Given the description of an element on the screen output the (x, y) to click on. 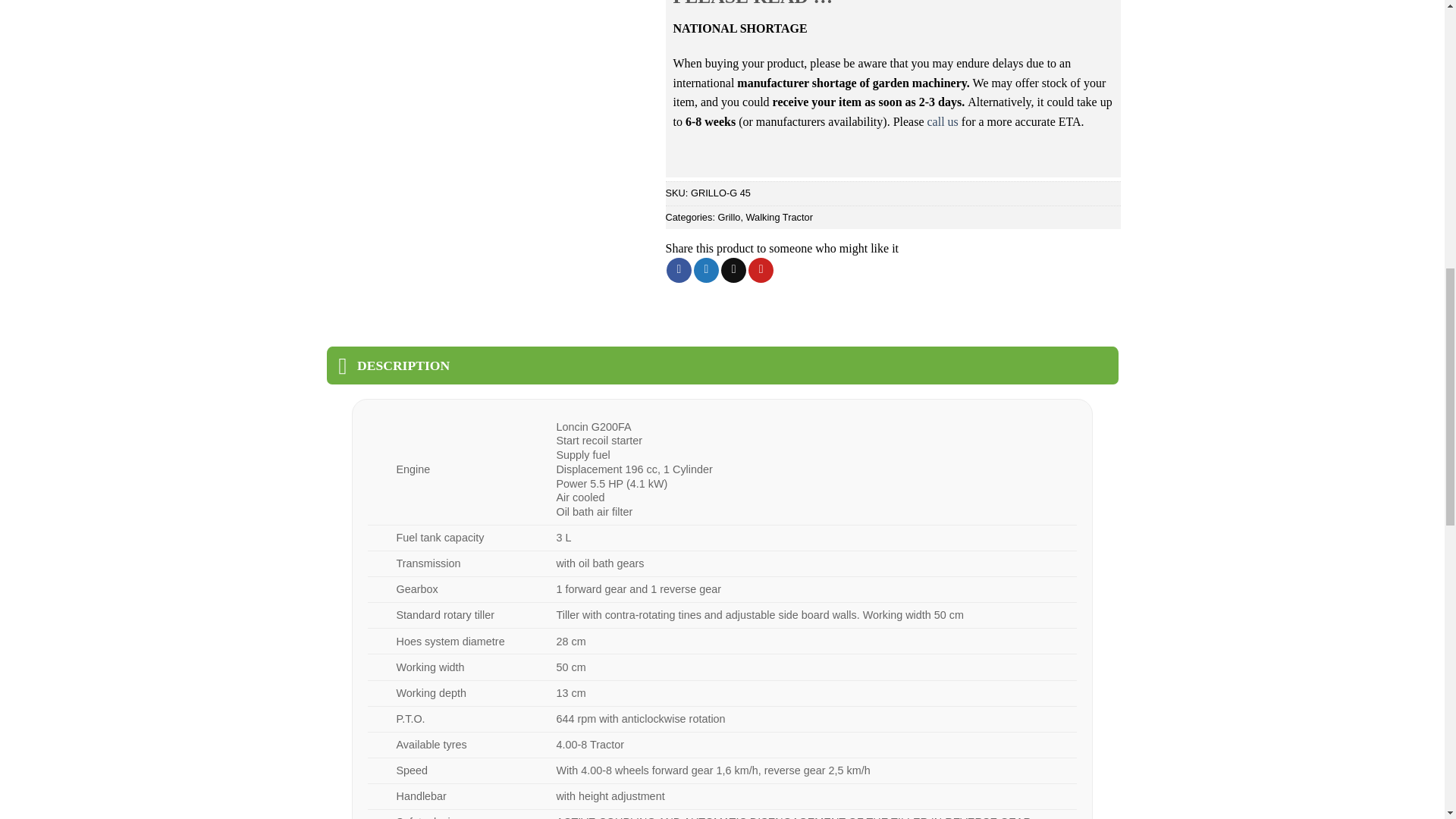
Email to a Friend (732, 269)
Pin on Pinterest (760, 269)
Share on Twitter (706, 269)
Share on Facebook (678, 269)
